Given the description of an element on the screen output the (x, y) to click on. 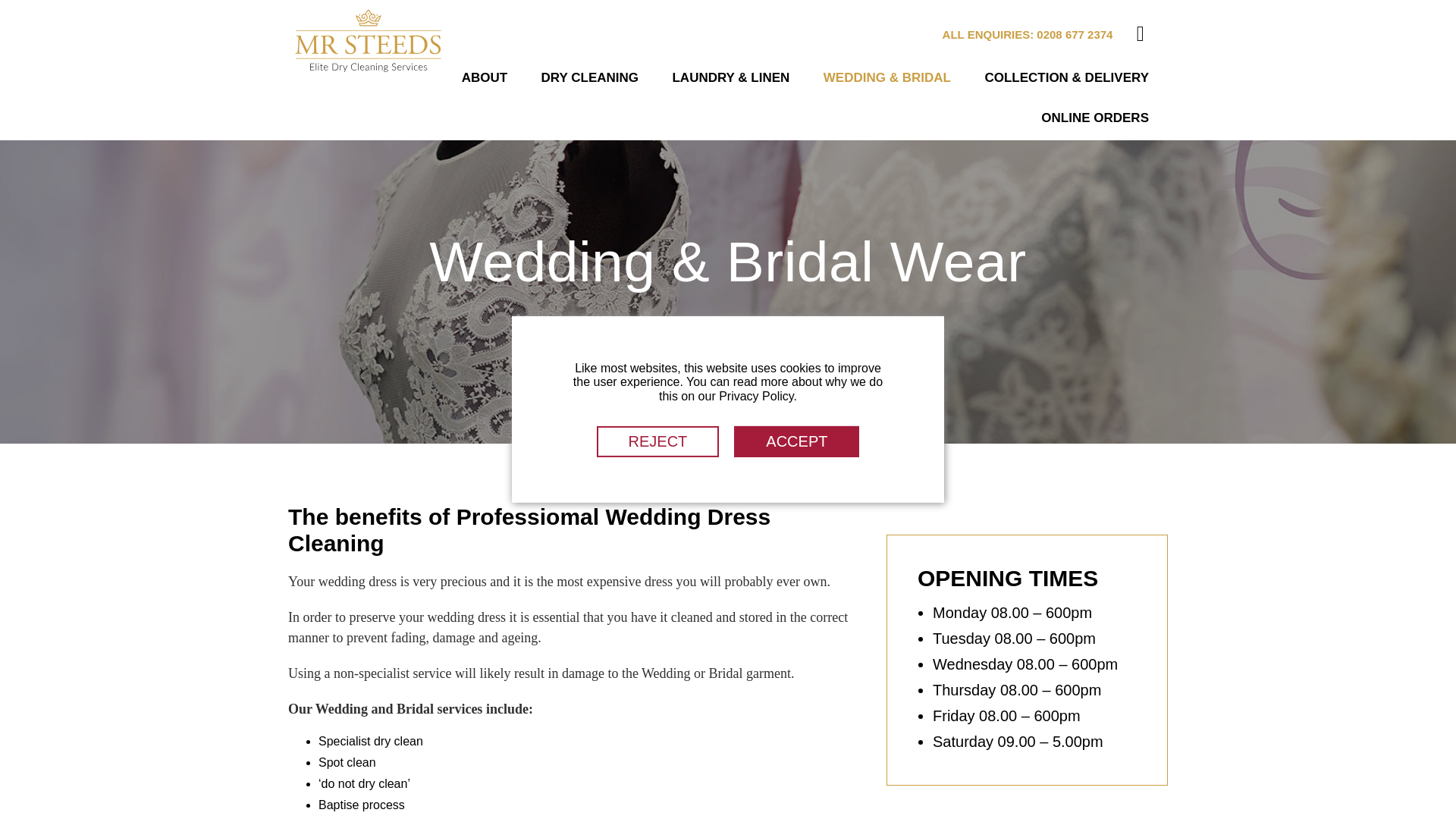
ABOUT (484, 79)
ALL ENQUIRIES: 0208 677 2374 (1027, 33)
DRY CLEANING (589, 79)
ONLINE ORDERS (1094, 119)
